Given the description of an element on the screen output the (x, y) to click on. 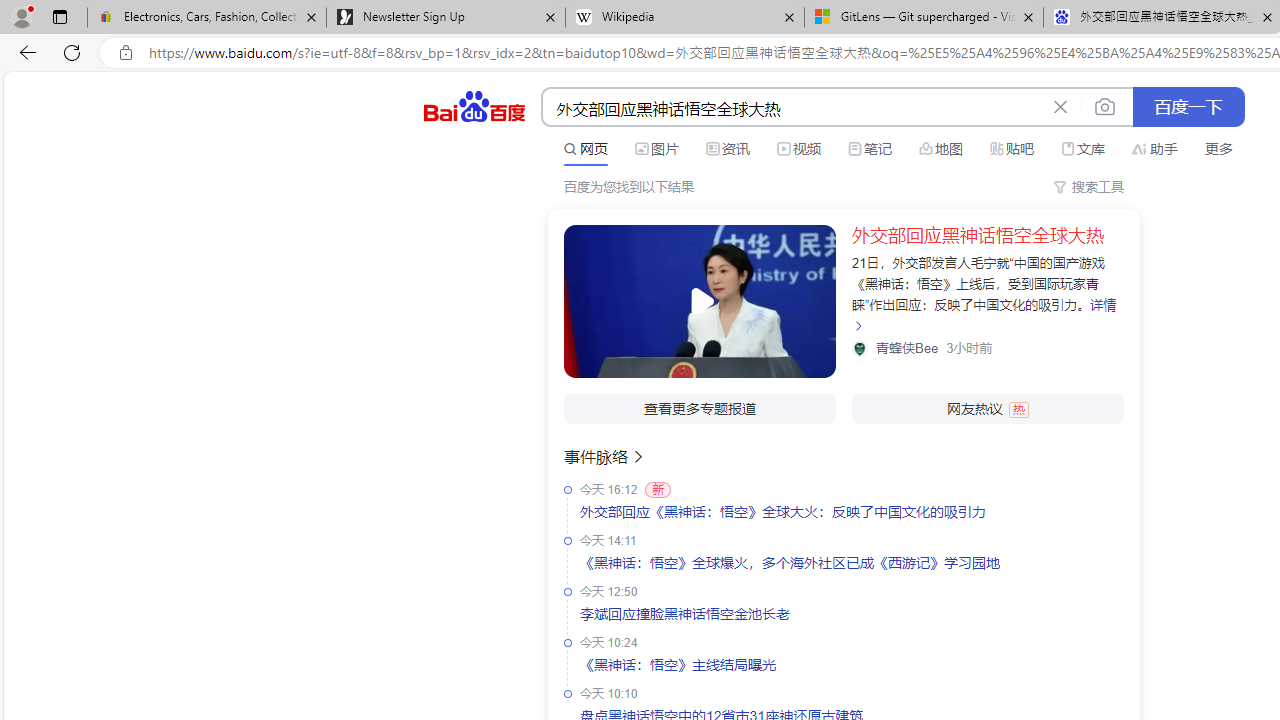
AutomationID: kw (793, 107)
Electronics, Cars, Fashion, Collectibles & More | eBay (207, 17)
Tab actions menu (59, 16)
